Given the description of an element on the screen output the (x, y) to click on. 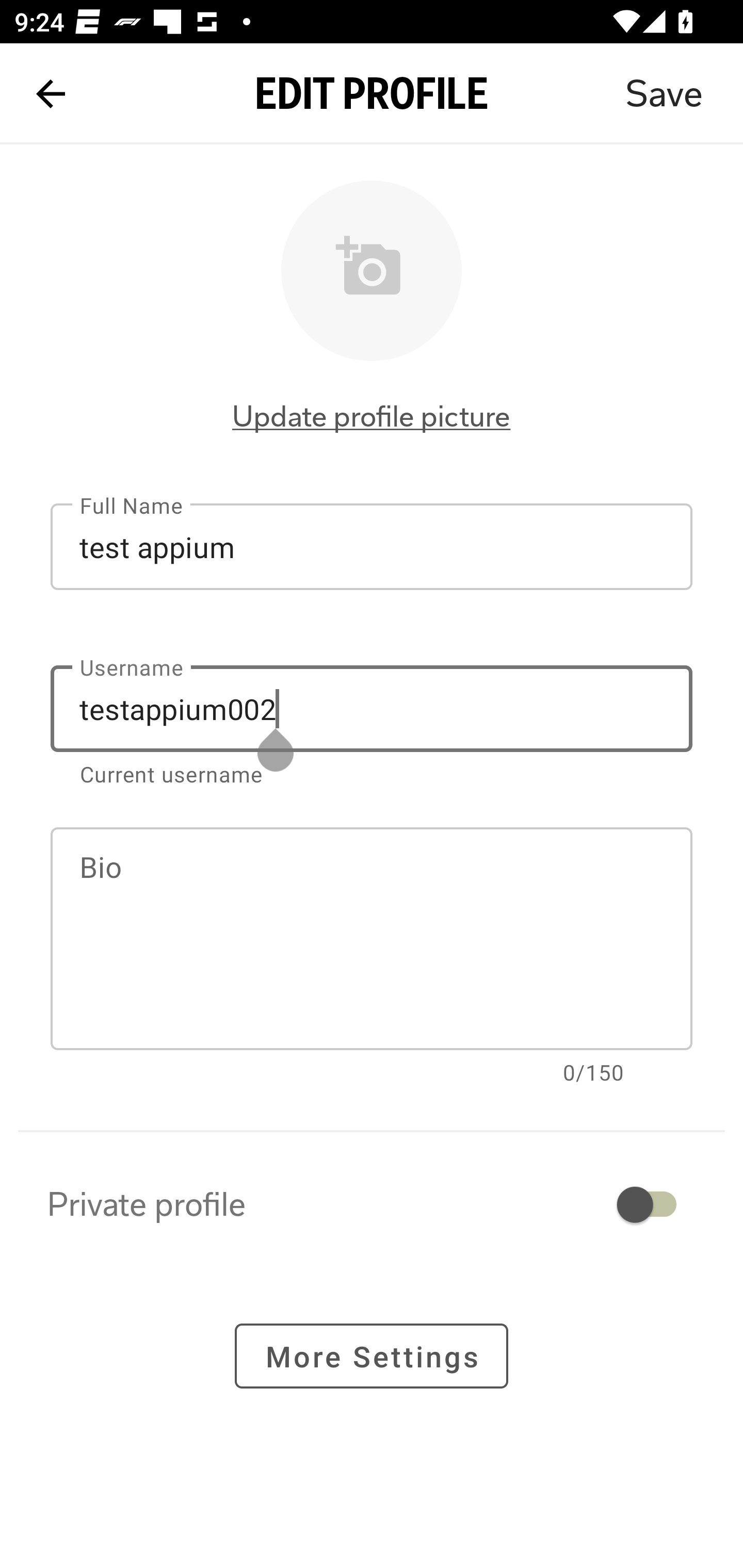
Back (50, 93)
Save (663, 93)
Update profile picture (371, 415)
test appium (371, 546)
testappium002 (371, 708)
Bio (371, 938)
Private profile (371, 1204)
More Settings (371, 1355)
